Given the description of an element on the screen output the (x, y) to click on. 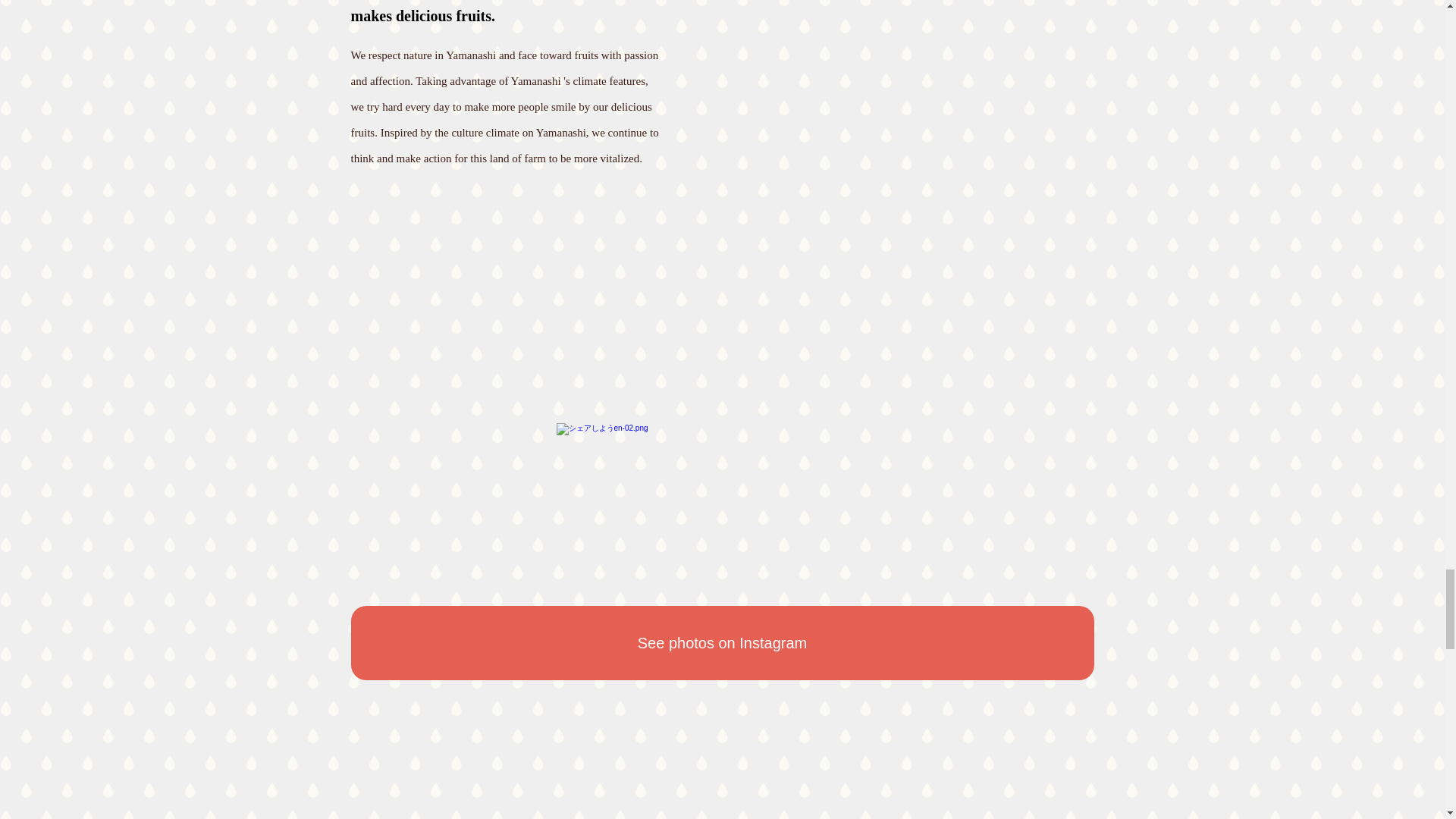
See photos on Instagram (721, 643)
